Given the description of an element on the screen output the (x, y) to click on. 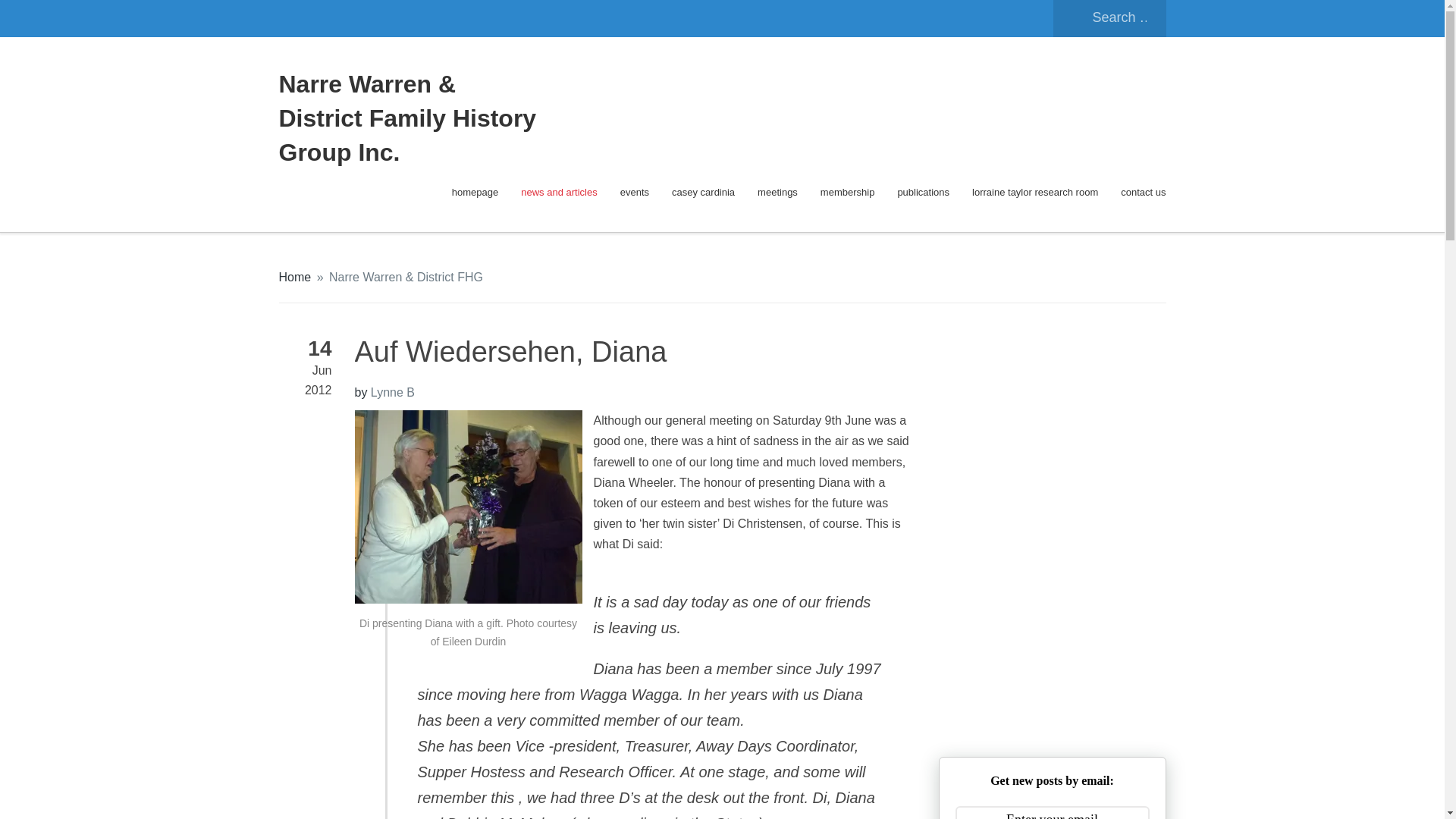
homepage (474, 192)
membership (848, 192)
lorraine taylor research room (1034, 192)
Di and Diana (468, 506)
events (634, 192)
Posts by Lynne B (392, 391)
Lynne B (392, 391)
news and articles (558, 192)
contact us (1143, 192)
Home (295, 277)
Search (40, 18)
publications (922, 192)
meetings (777, 192)
casey cardinia (703, 192)
